Given the description of an element on the screen output the (x, y) to click on. 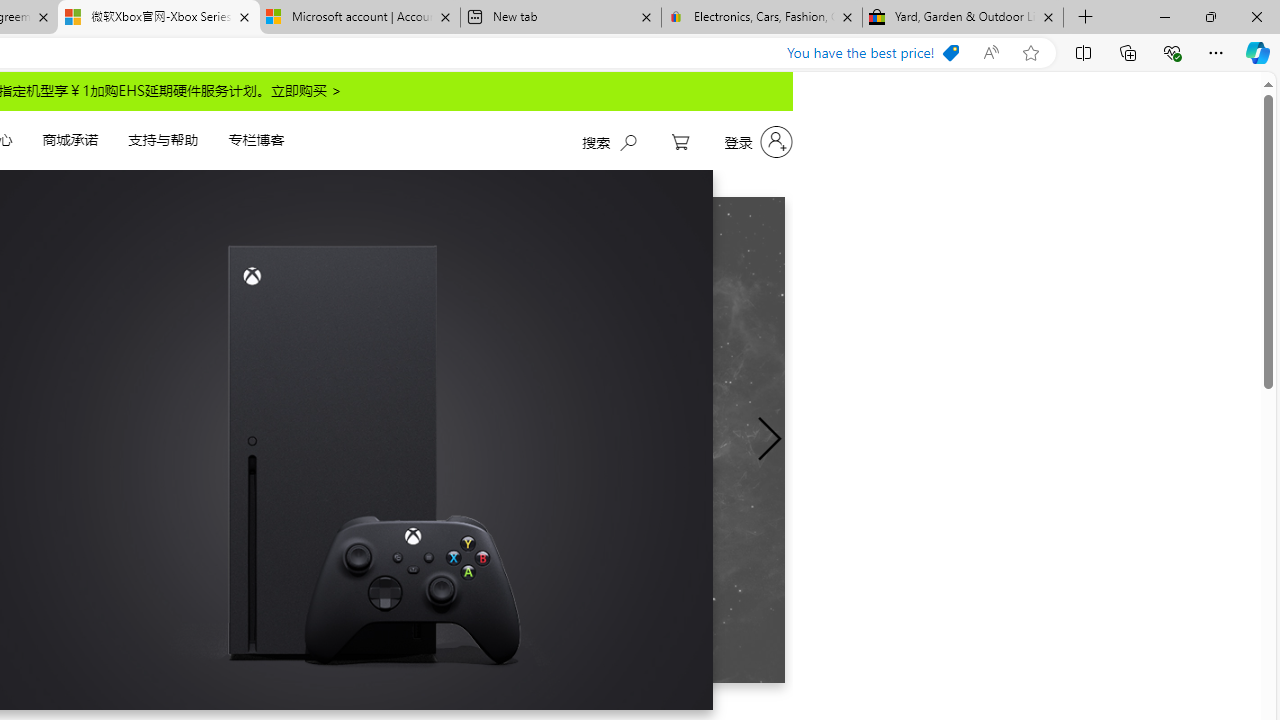
You have the best price! (872, 53)
Xbox Series X (213, 439)
Next slide (769, 439)
Electronics, Cars, Fashion, Collectibles & More | eBay (761, 17)
Yard, Garden & Outdoor Living (962, 17)
